Given the description of an element on the screen output the (x, y) to click on. 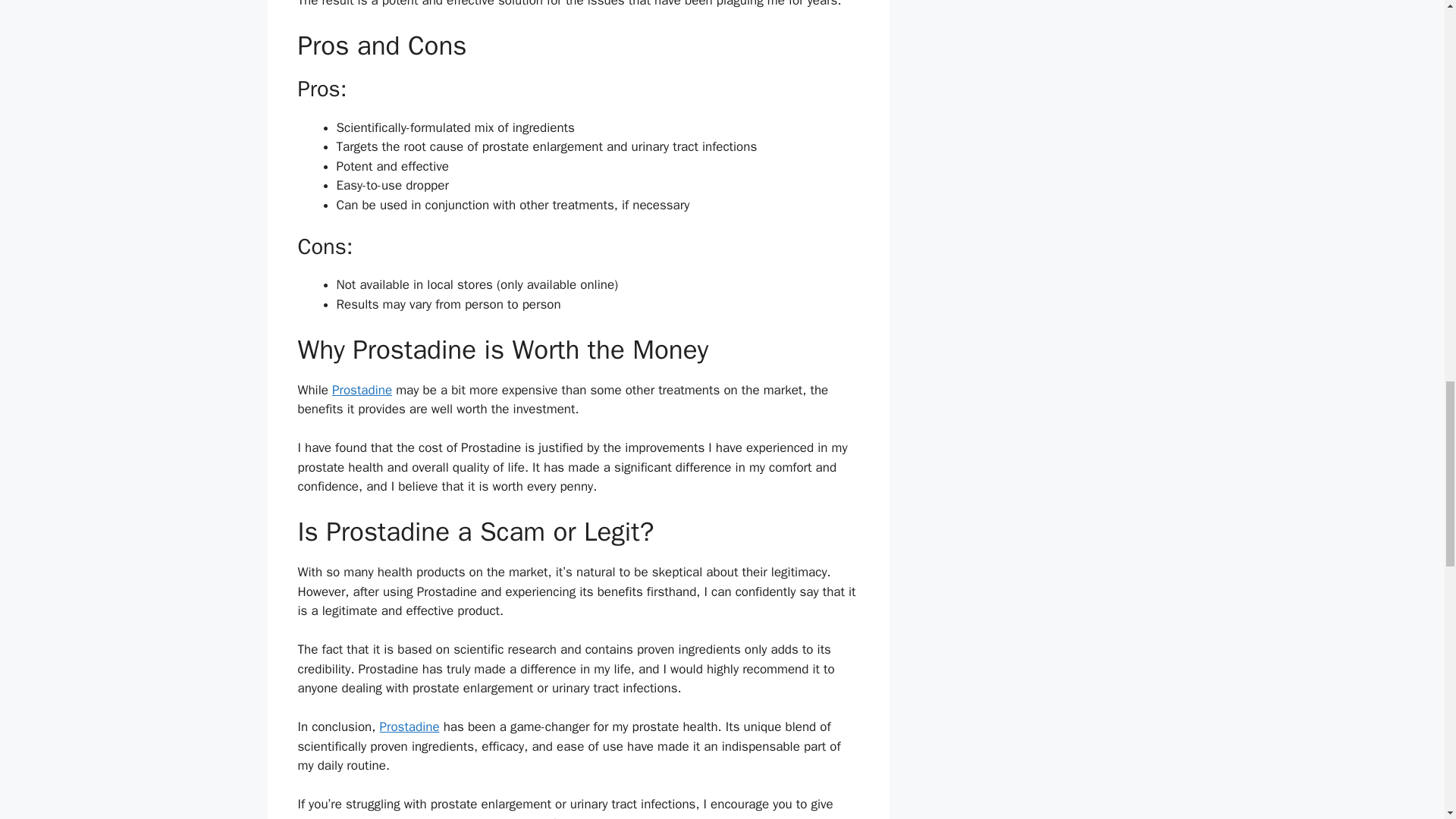
Prostadine (361, 390)
Prostadine (408, 726)
